Given the description of an element on the screen output the (x, y) to click on. 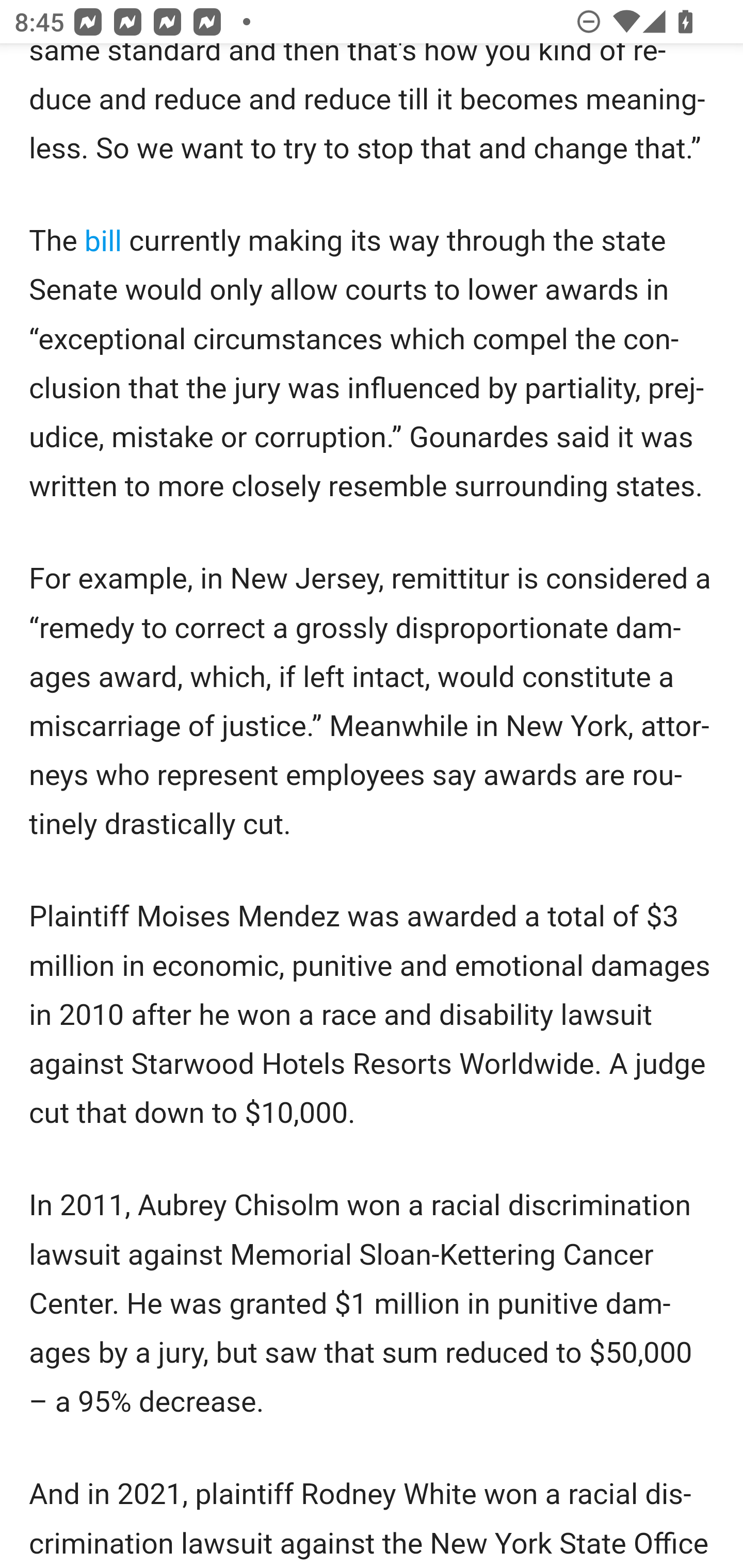
bill (102, 240)
